Given the description of an element on the screen output the (x, y) to click on. 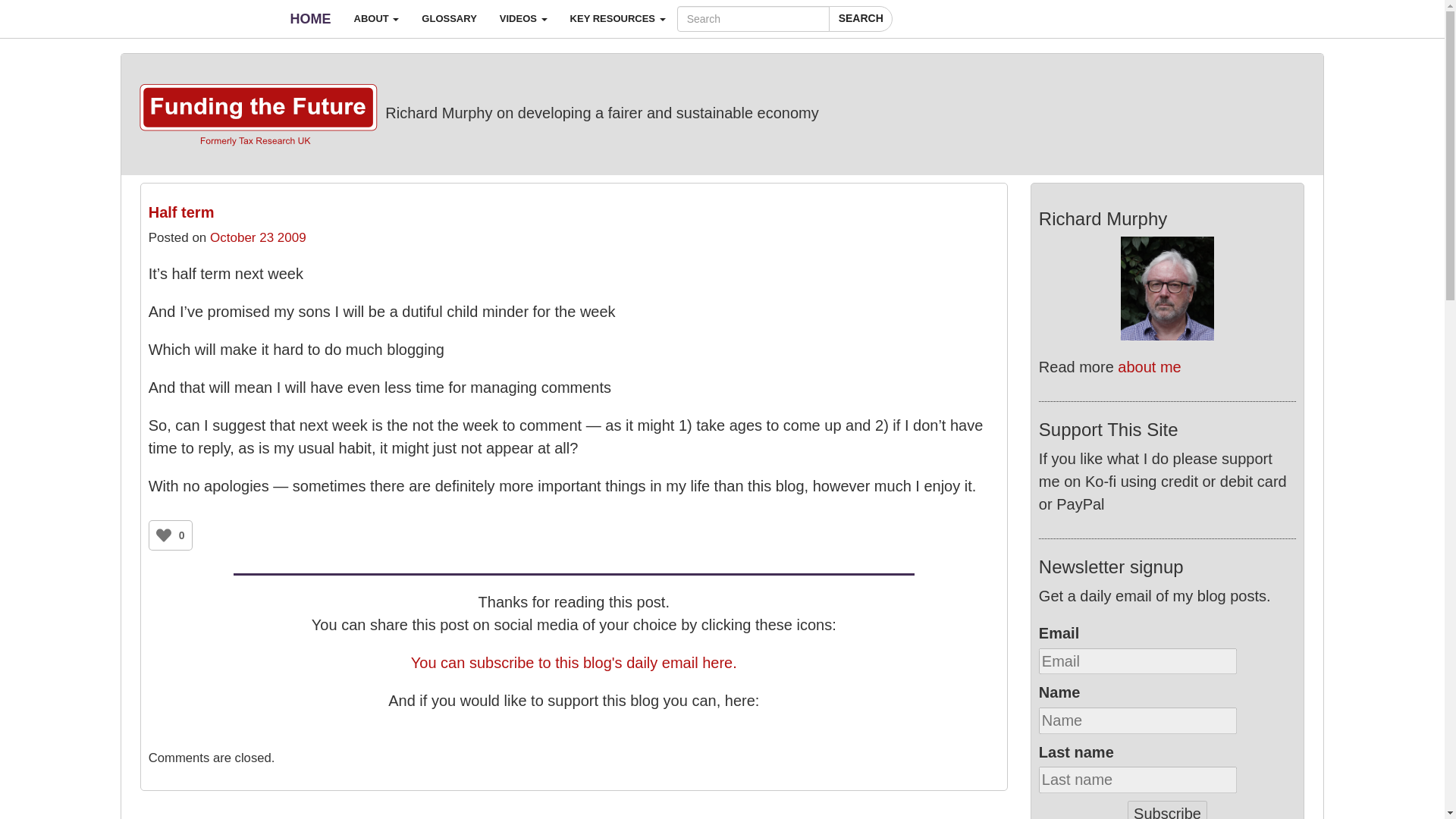
KEY RESOURCES (618, 18)
HOME (310, 18)
0 (573, 737)
You can subscribe to this blog's daily email here. (573, 662)
Subscribe (1166, 809)
Videos (523, 18)
Search (860, 18)
Glossary (448, 18)
October 23 2009 (257, 237)
ABOUT (376, 18)
